Given the description of an element on the screen output the (x, y) to click on. 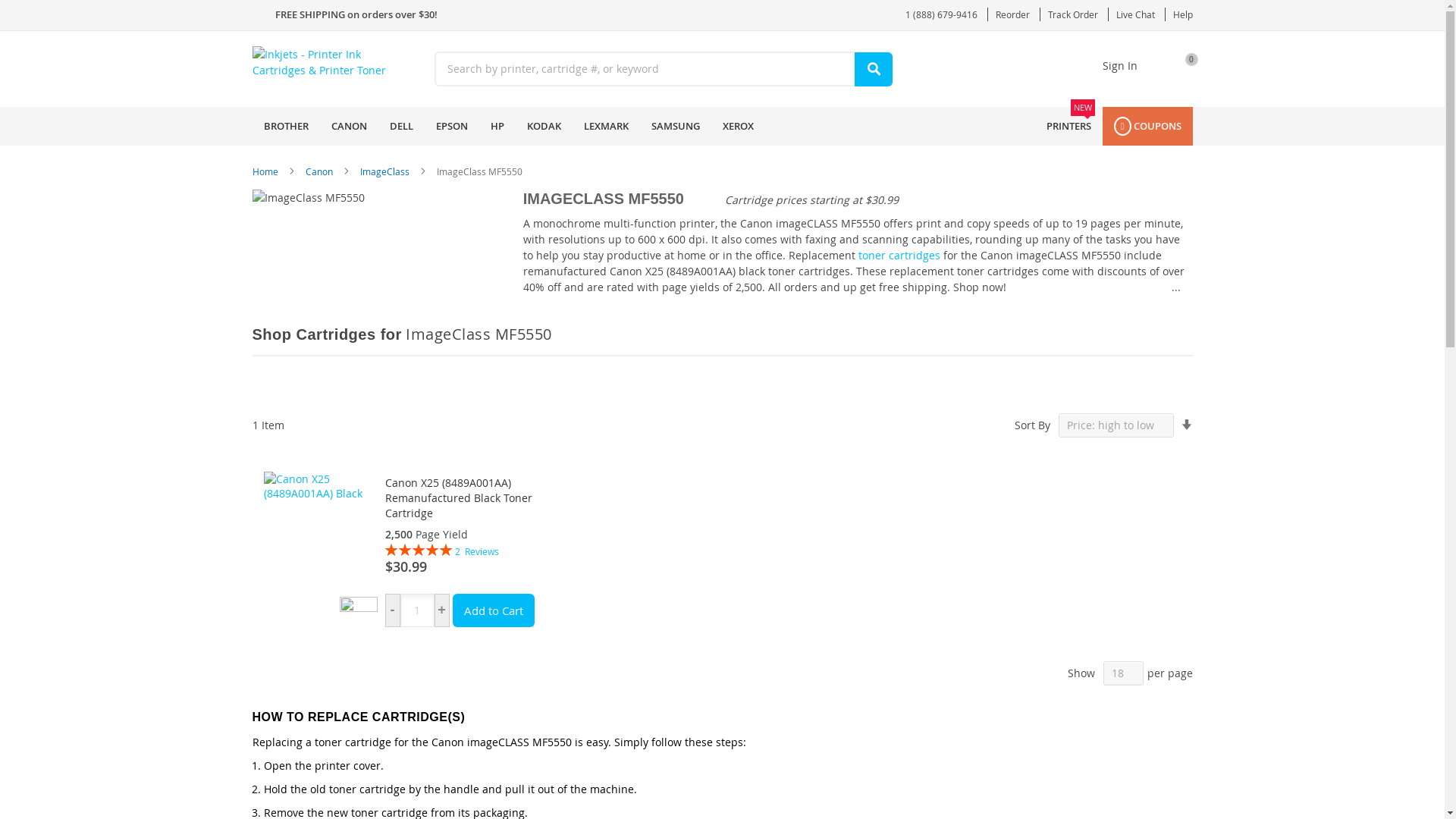
HP (497, 125)
KODAK (543, 125)
Wide range of toner cartridges online (899, 255)
LEXMARK (605, 125)
EPSON (1181, 67)
toner cartridges (452, 125)
CANON (899, 255)
Track Order (349, 125)
XEROX (1072, 14)
